Given the description of an element on the screen output the (x, y) to click on. 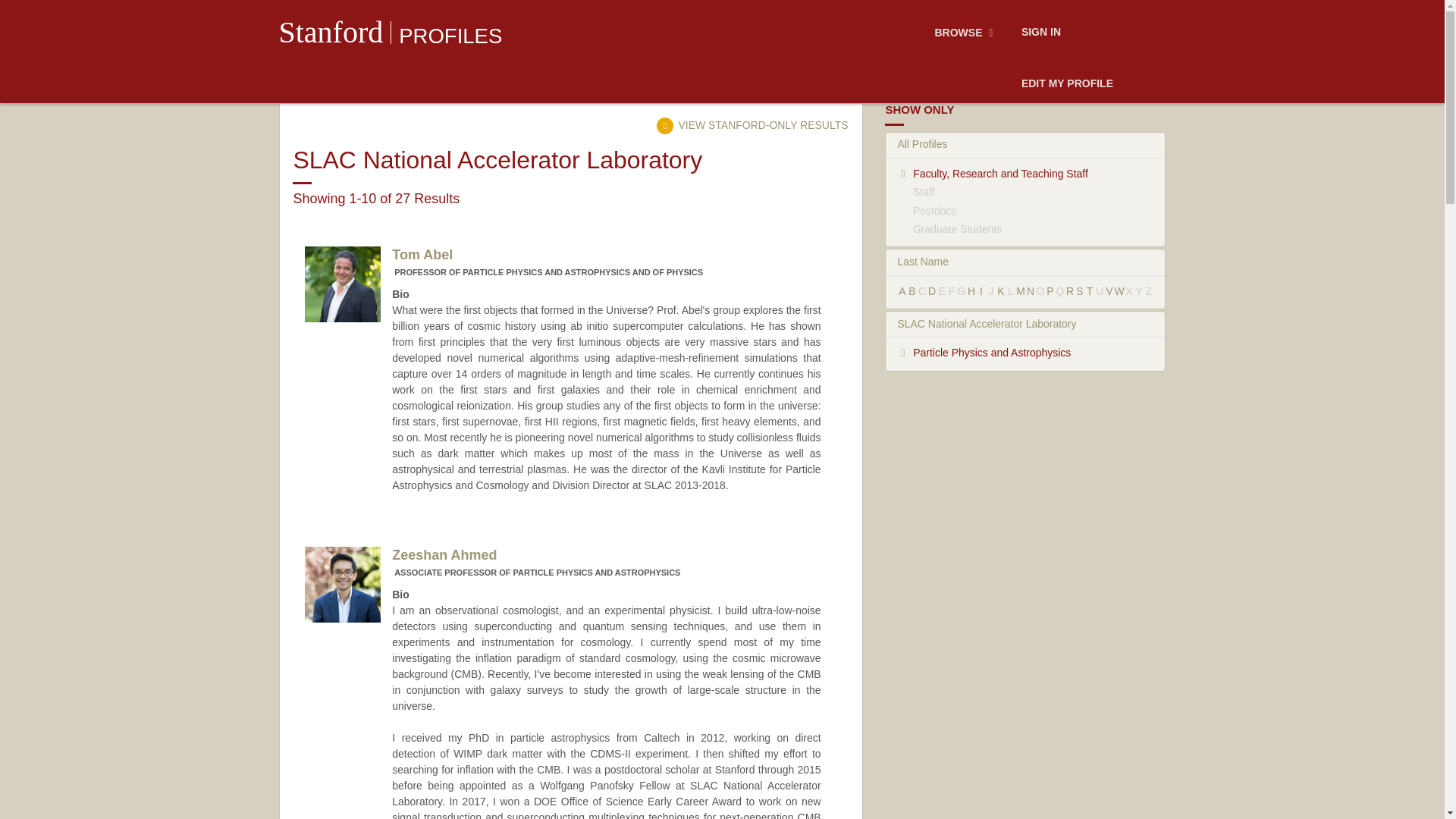
Stanford (331, 32)
PROFILES (450, 35)
VIEW STANFORD-ONLY RESULTS (751, 124)
SIGN IN (1040, 32)
BROWSE (966, 32)
EDIT MY PROFILE (1067, 84)
